Given the description of an element on the screen output the (x, y) to click on. 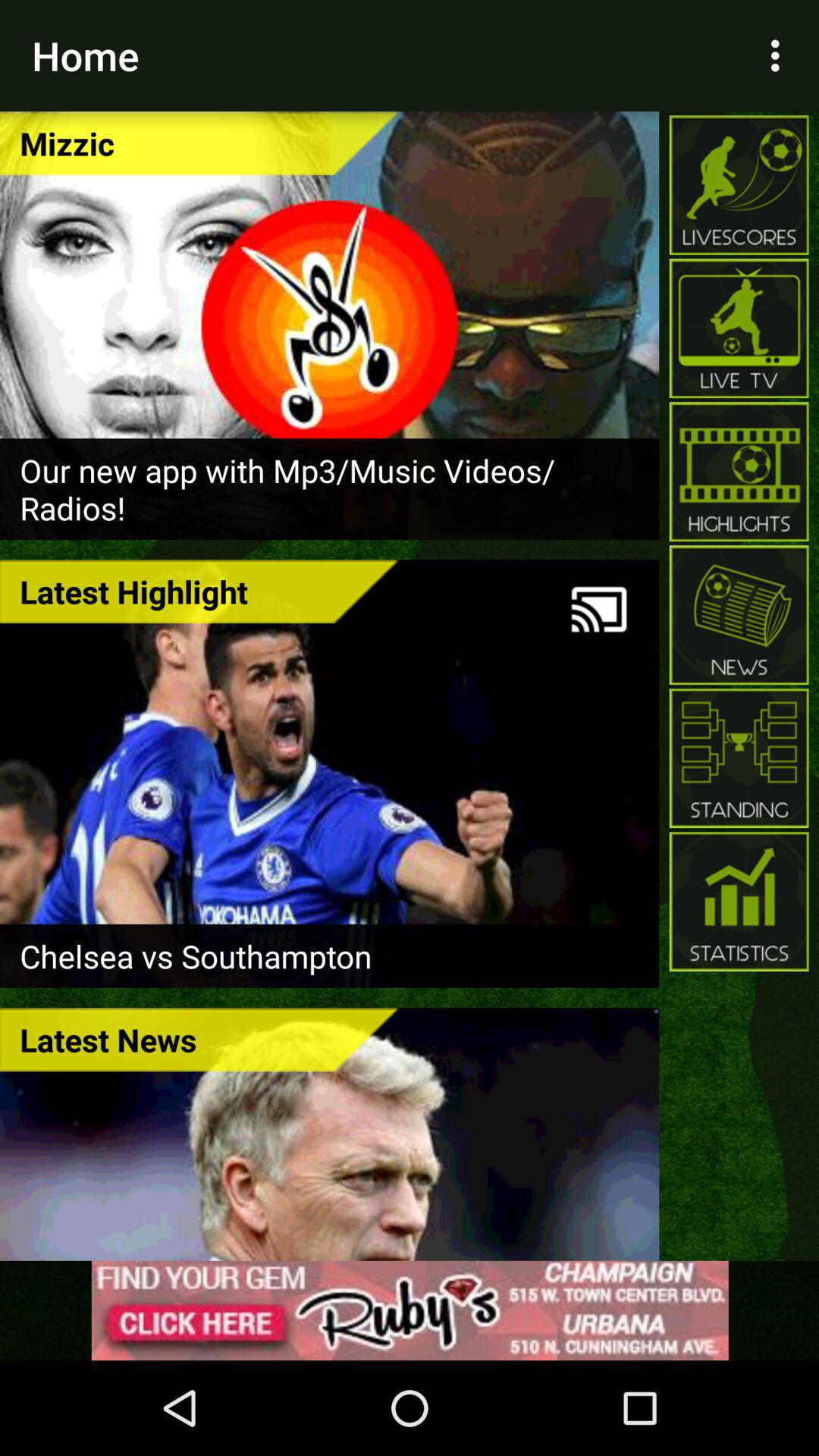
choose icon above chelsea vs southampton (199, 591)
